Given the description of an element on the screen output the (x, y) to click on. 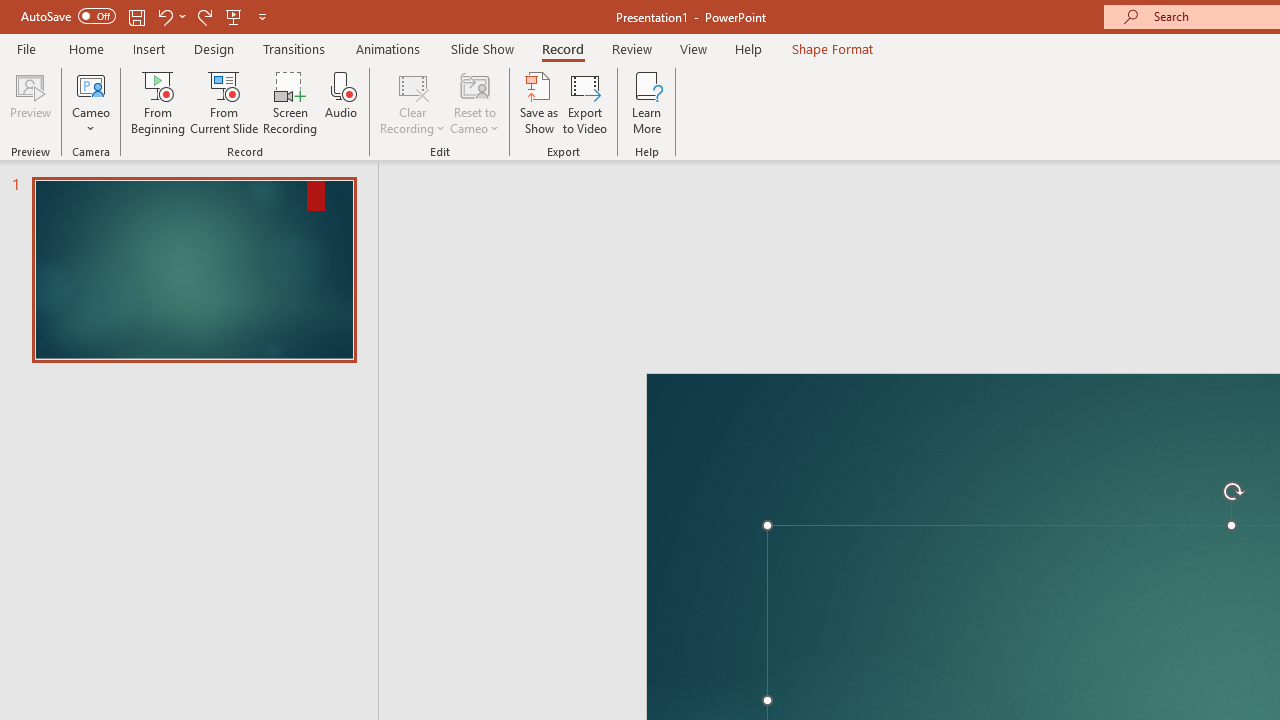
Save as Show (539, 102)
Preview (30, 102)
Redo (204, 15)
Insert (149, 48)
Export to Video (585, 102)
Quick Access Toolbar (145, 16)
Home (86, 48)
AutoSave (68, 16)
Shape Format (832, 48)
Review (631, 48)
Learn More (646, 102)
Screen Recording (290, 102)
